Given the description of an element on the screen output the (x, y) to click on. 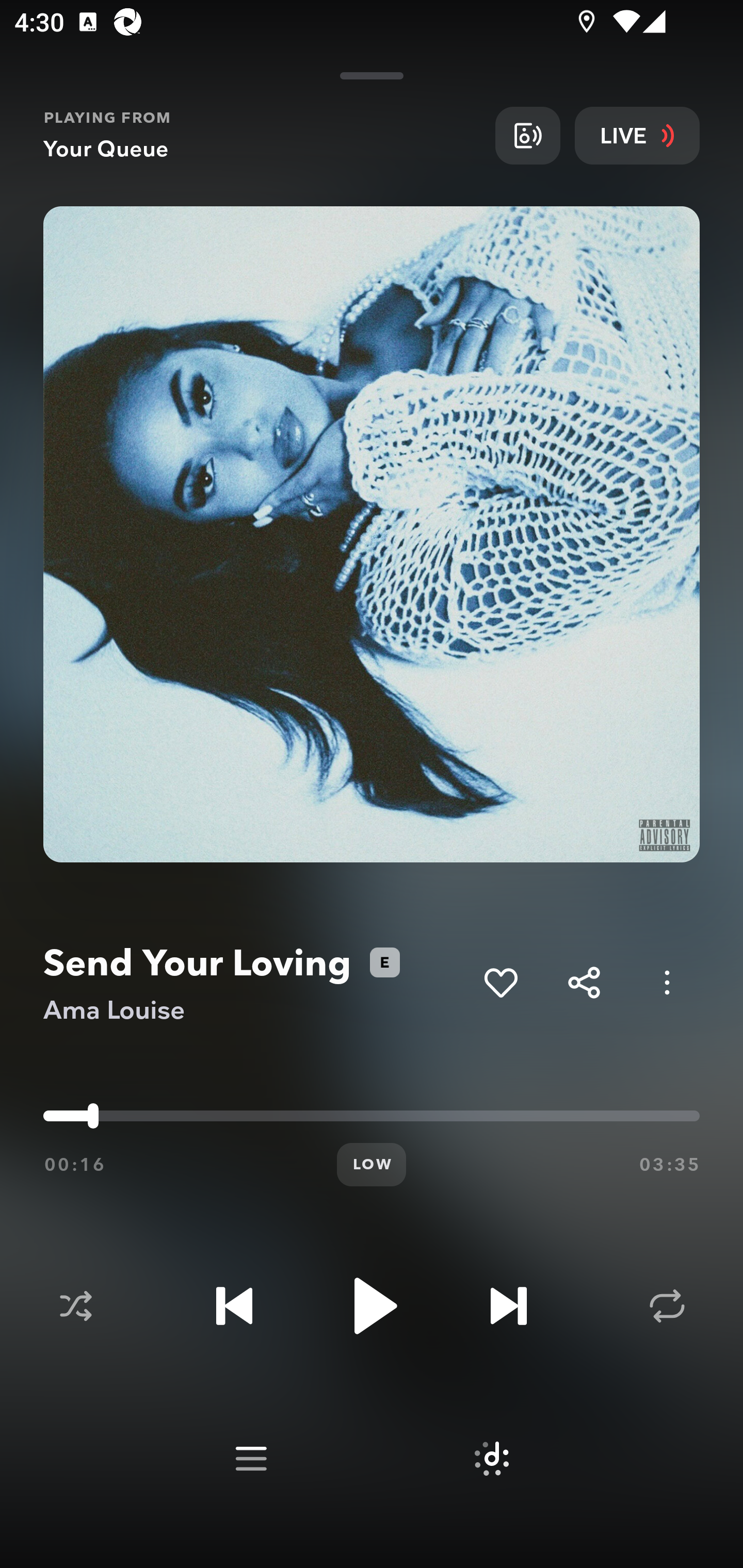
Broadcast (527, 135)
LIVE (637, 135)
PLAYING FROM Your Queue (261, 135)
Send Your Loving    Ama Louise (255, 983)
Add to My Collection (500, 982)
Share (583, 982)
Options (666, 982)
LOW (371, 1164)
Play (371, 1306)
Previous (234, 1306)
Next (508, 1306)
Shuffle disabled (75, 1306)
Repeat Off (666, 1306)
Play queue (250, 1458)
Suggested tracks (491, 1458)
